Given the description of an element on the screen output the (x, y) to click on. 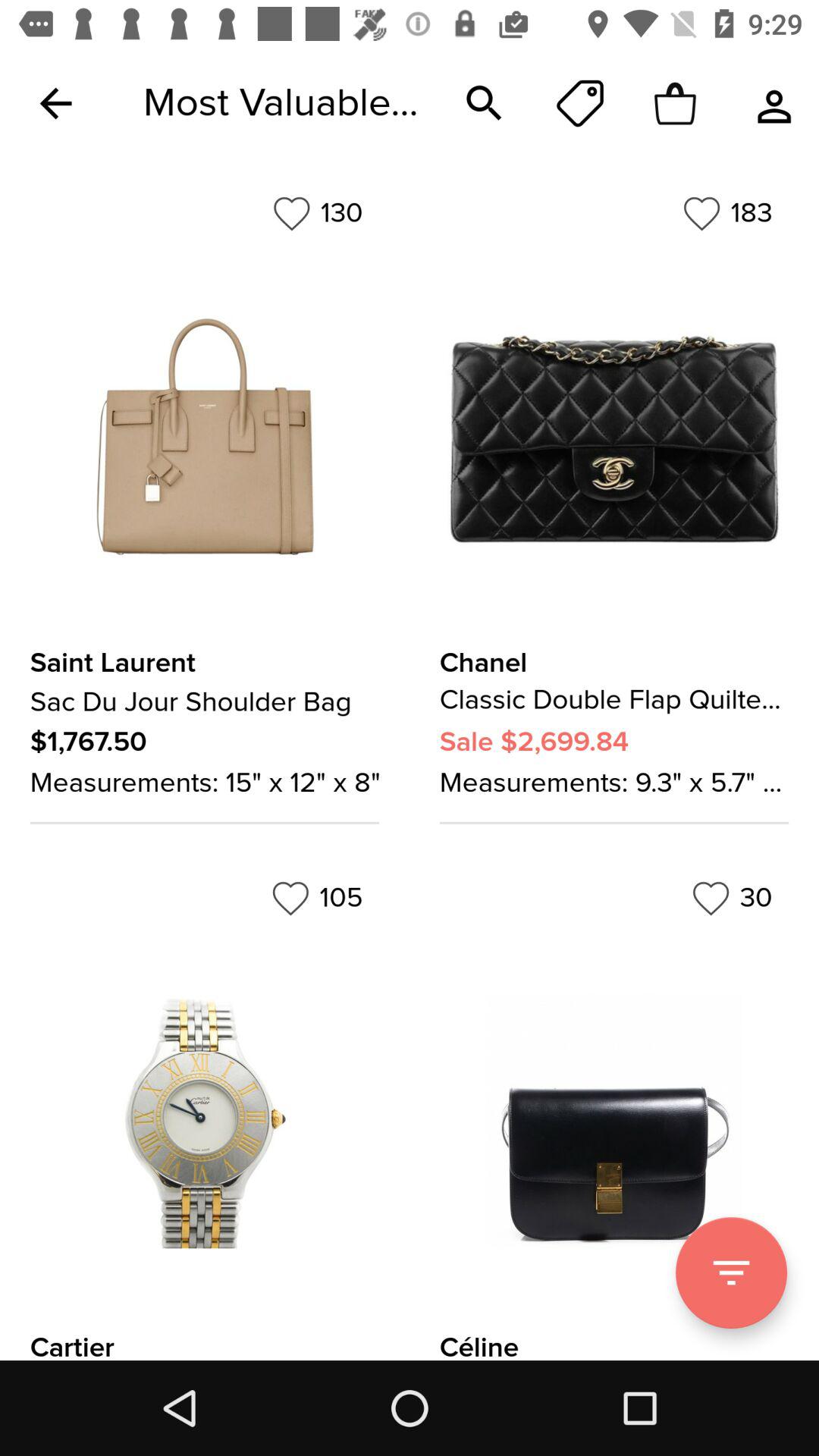
click item next to most valuable investment item (55, 103)
